Given the description of an element on the screen output the (x, y) to click on. 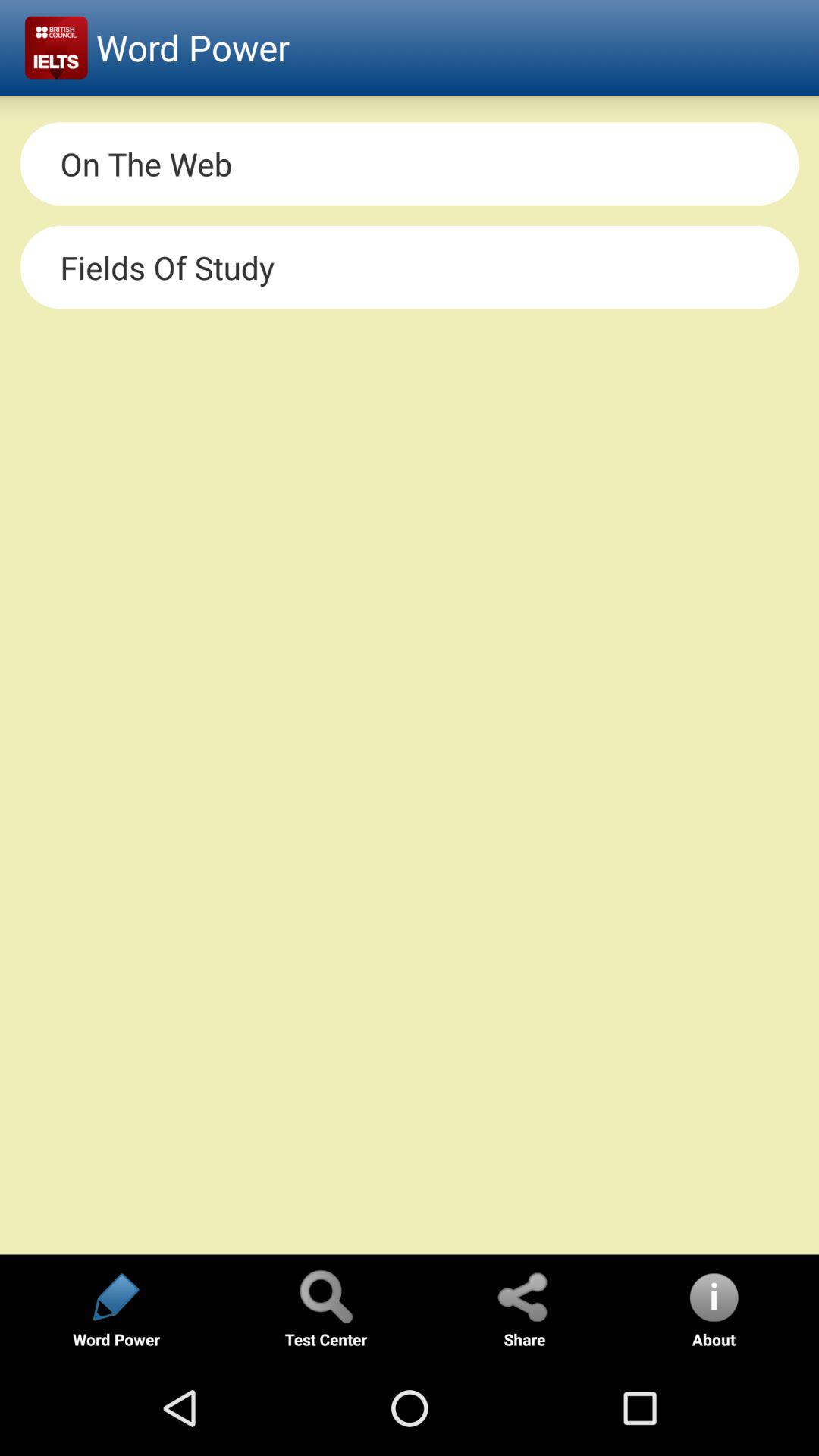
scroll until fields of study (409, 266)
